Given the description of an element on the screen output the (x, y) to click on. 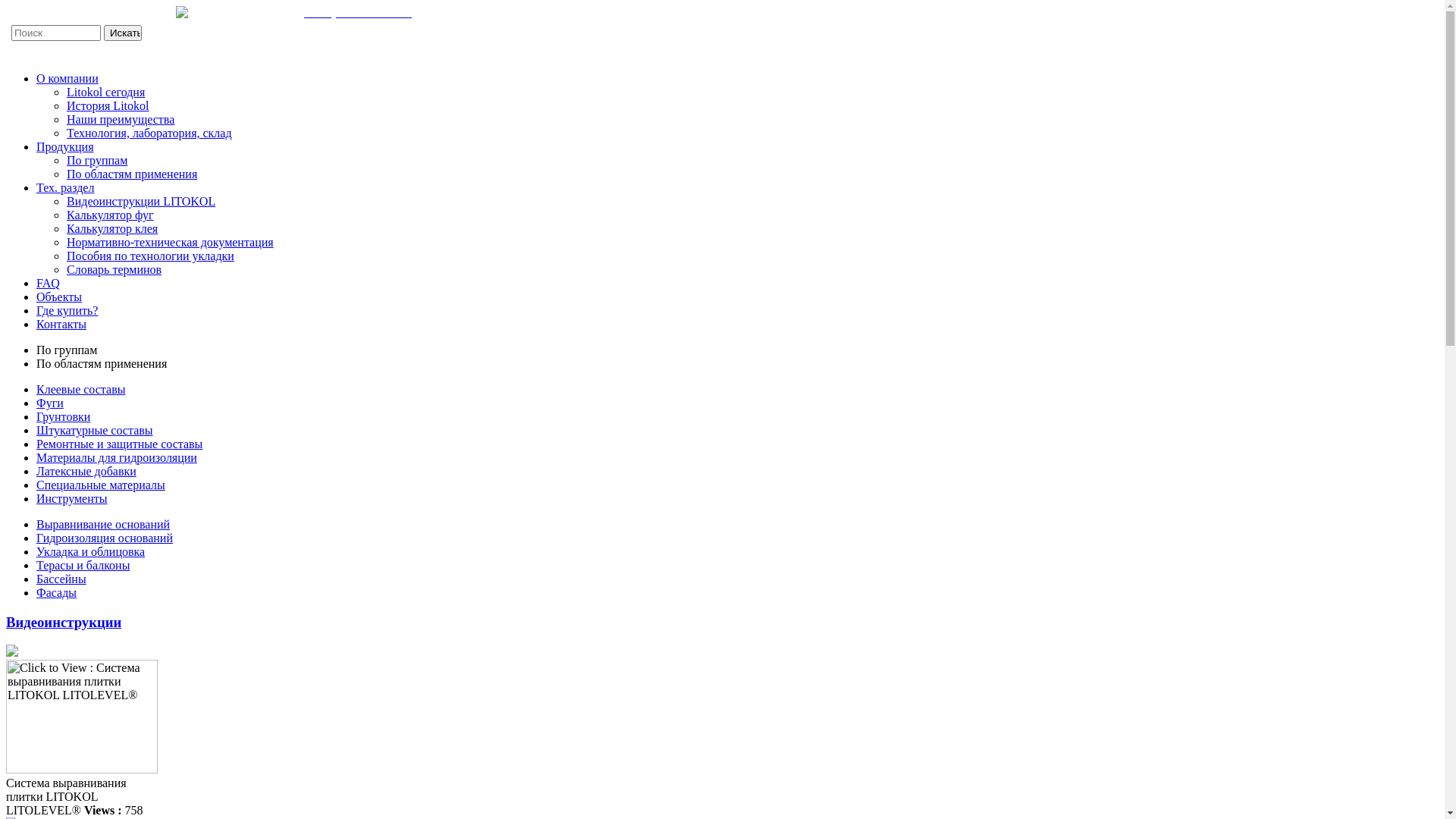
FAQ Element type: text (47, 282)
